Given the description of an element on the screen output the (x, y) to click on. 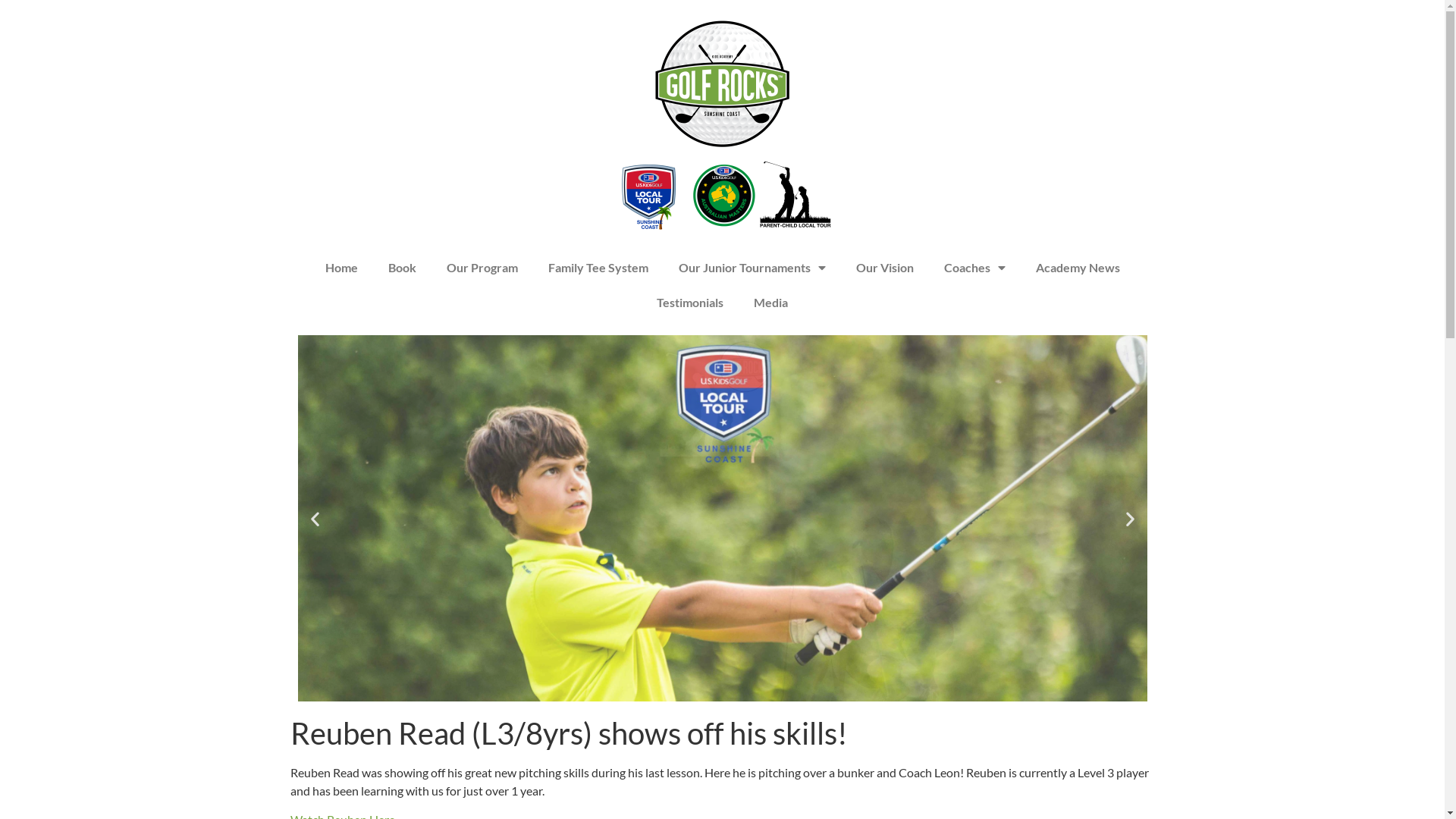
Academy News Element type: text (1077, 267)
Book Element type: text (402, 267)
Media Element type: text (770, 302)
Our Program Element type: text (481, 267)
Coaches Element type: text (973, 267)
Testimonials Element type: text (689, 302)
Family Tee System Element type: text (597, 267)
Home Element type: text (340, 267)
Our Junior Tournaments Element type: text (751, 267)
Our Vision Element type: text (884, 267)
